Given the description of an element on the screen output the (x, y) to click on. 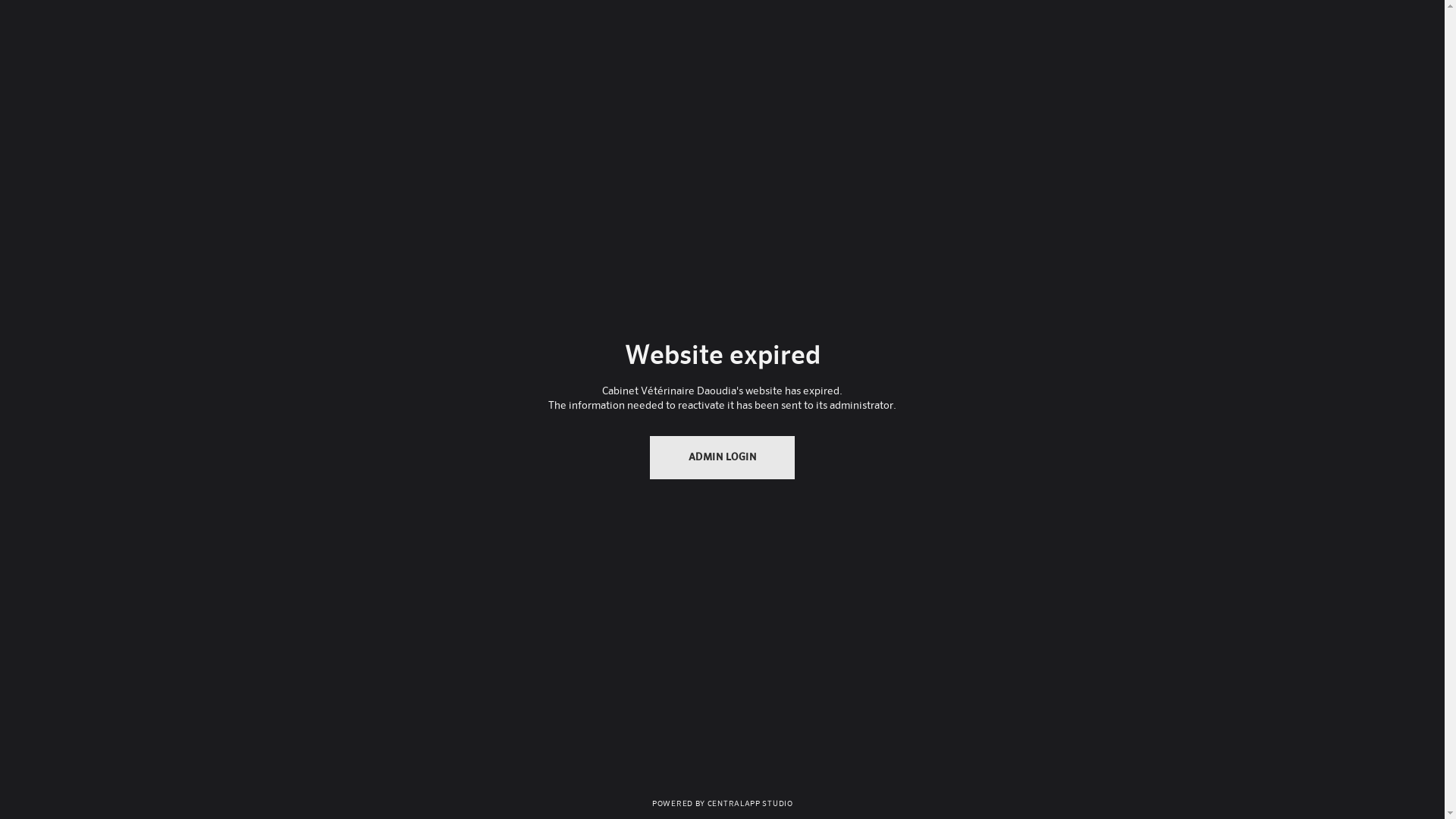
Powered by Centralapp Studio Element type: text (721, 802)
ADMIN LOGIN Element type: text (722, 457)
